Given the description of an element on the screen output the (x, y) to click on. 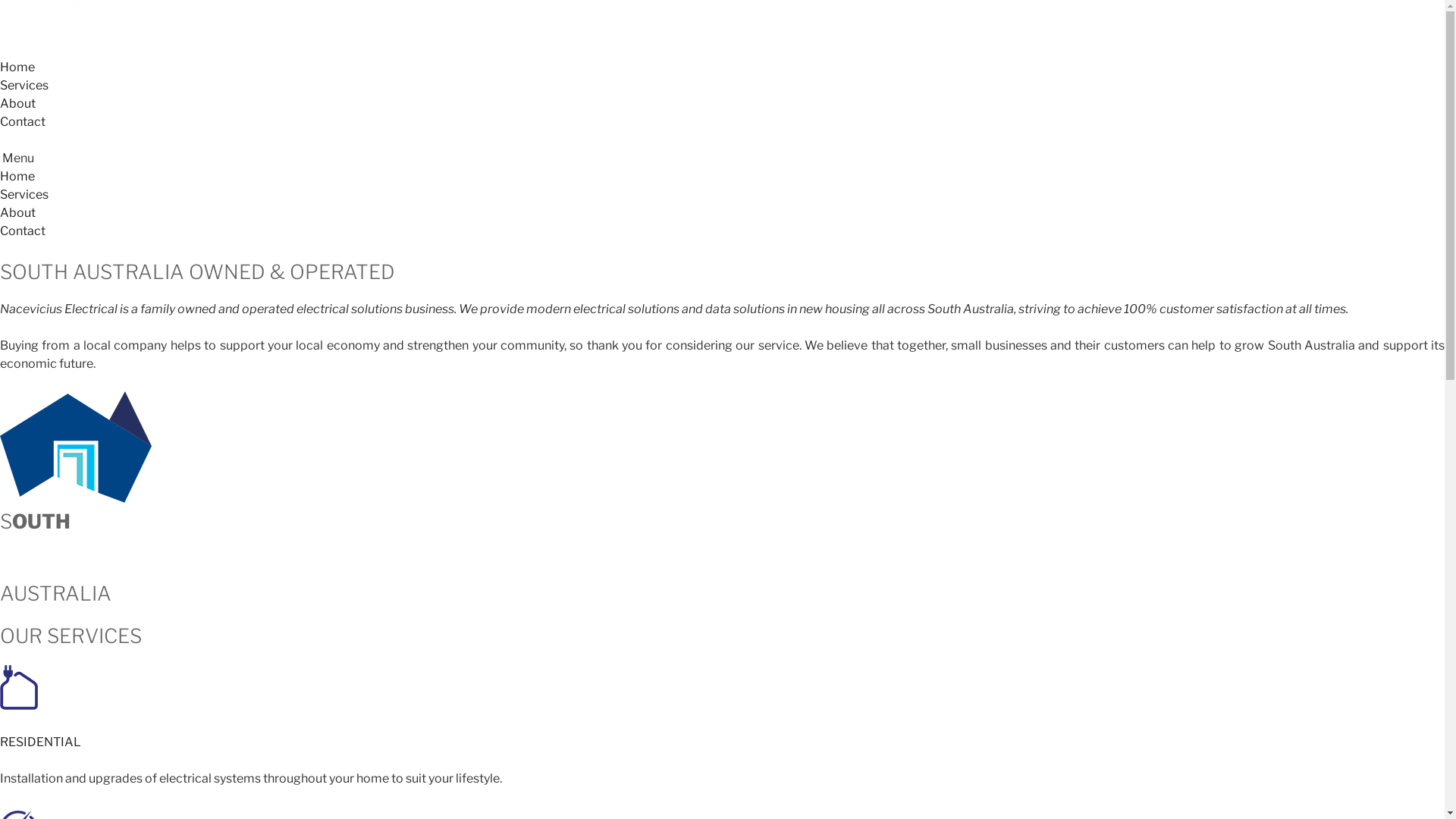
Services Element type: text (24, 193)
Contact Element type: text (22, 120)
About Element type: text (17, 102)
RESIDENTIAL Element type: text (40, 741)
Services Element type: text (24, 84)
Contact Element type: text (22, 229)
About Element type: text (17, 211)
Home Element type: text (17, 66)
Home Element type: text (17, 175)
